Given the description of an element on the screen output the (x, y) to click on. 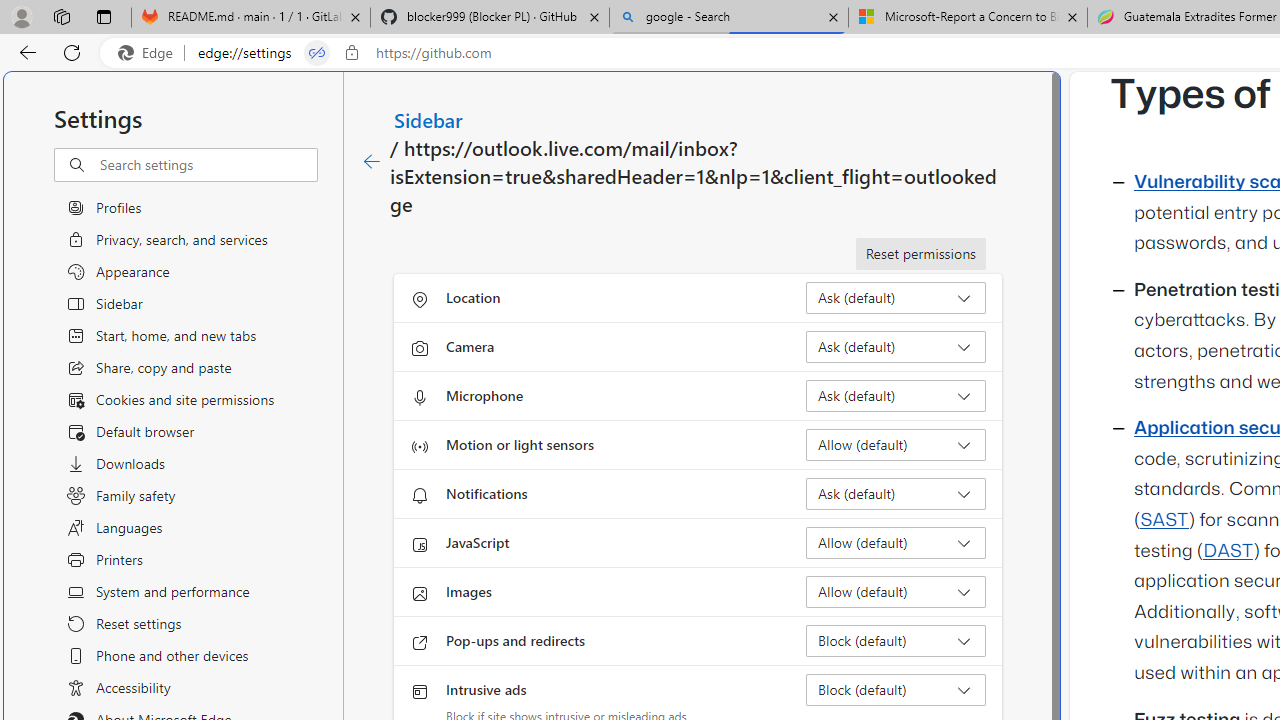
Edge (150, 53)
JavaScript Allow (default) (895, 542)
Pop-ups and redirects Block (default) (895, 640)
Tabs in split screen (317, 53)
Reset permissions (920, 254)
DAST (1228, 551)
Class: c01182 (371, 161)
Notifications Ask (default) (895, 493)
Location Ask (default) (895, 297)
